Given the description of an element on the screen output the (x, y) to click on. 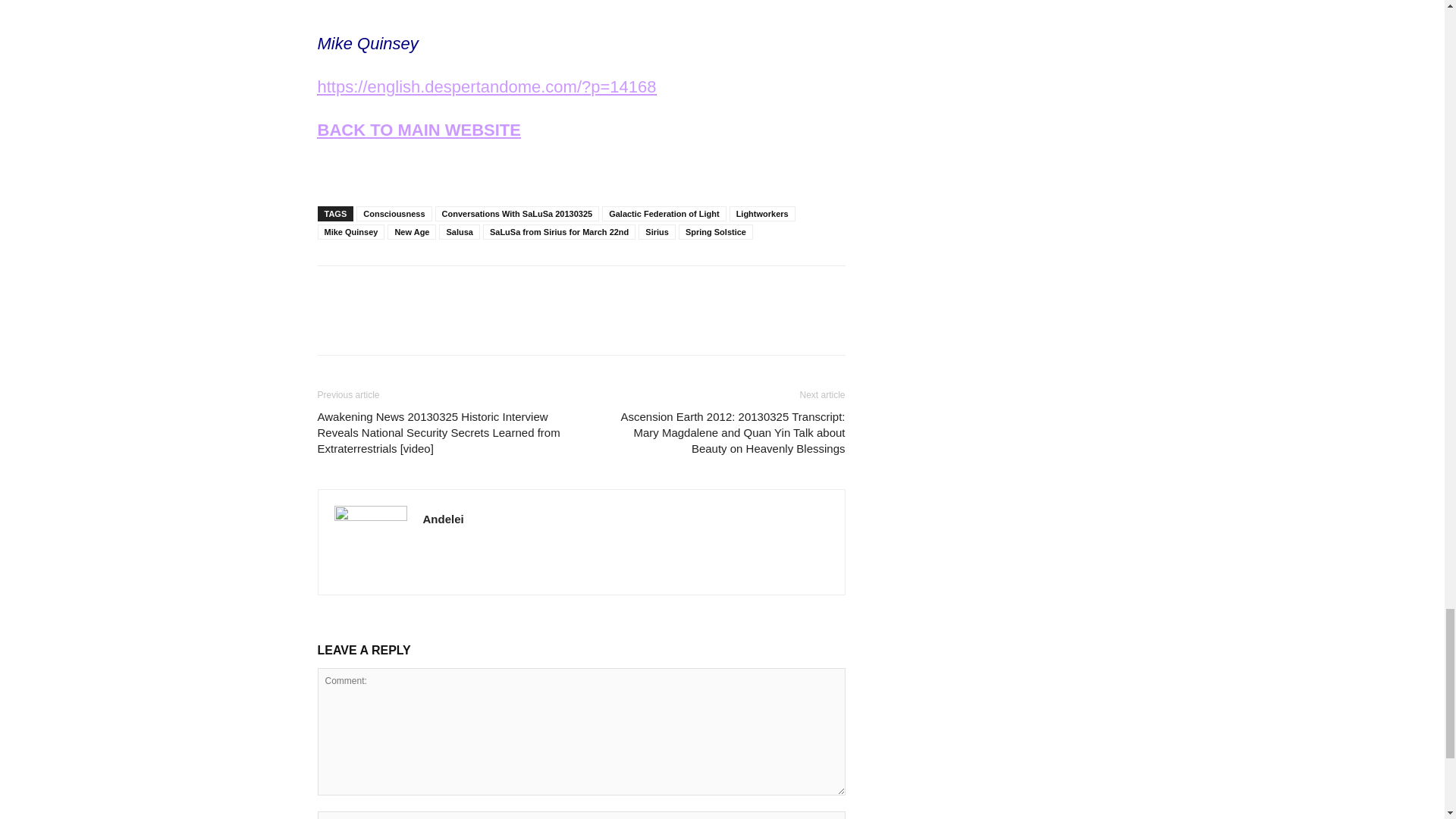
Consciousness (393, 213)
New Age (411, 231)
Lightworkers (761, 213)
Salusa (459, 231)
Galactic Federation of Light (663, 213)
Spring Solstice (715, 231)
Sirius (657, 231)
SaLuSa from Sirius for March 22nd (558, 231)
Mike Quinsey (350, 231)
BACK TO MAIN WEBSITE (418, 129)
Conversations With SaLuSa 20130325 (517, 213)
